Given the description of an element on the screen output the (x, y) to click on. 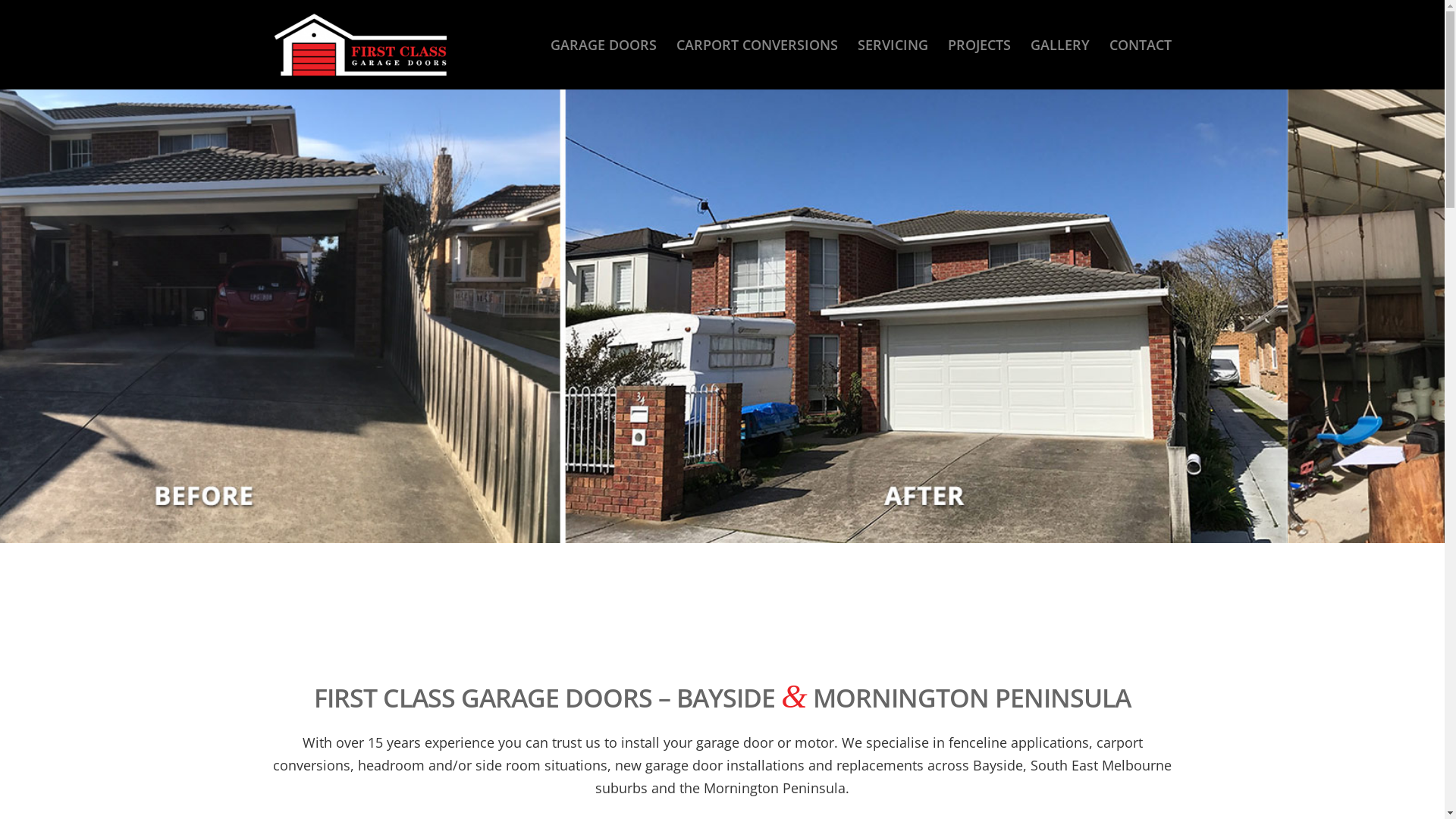
GALLERY Element type: text (1059, 44)
CARPORT CONVERSIONS Element type: text (756, 44)
CONTACT Element type: text (1140, 44)
PROJECTS Element type: text (978, 44)
GARAGE DOORS Element type: text (602, 44)
SERVICING Element type: text (892, 44)
